Given the description of an element on the screen output the (x, y) to click on. 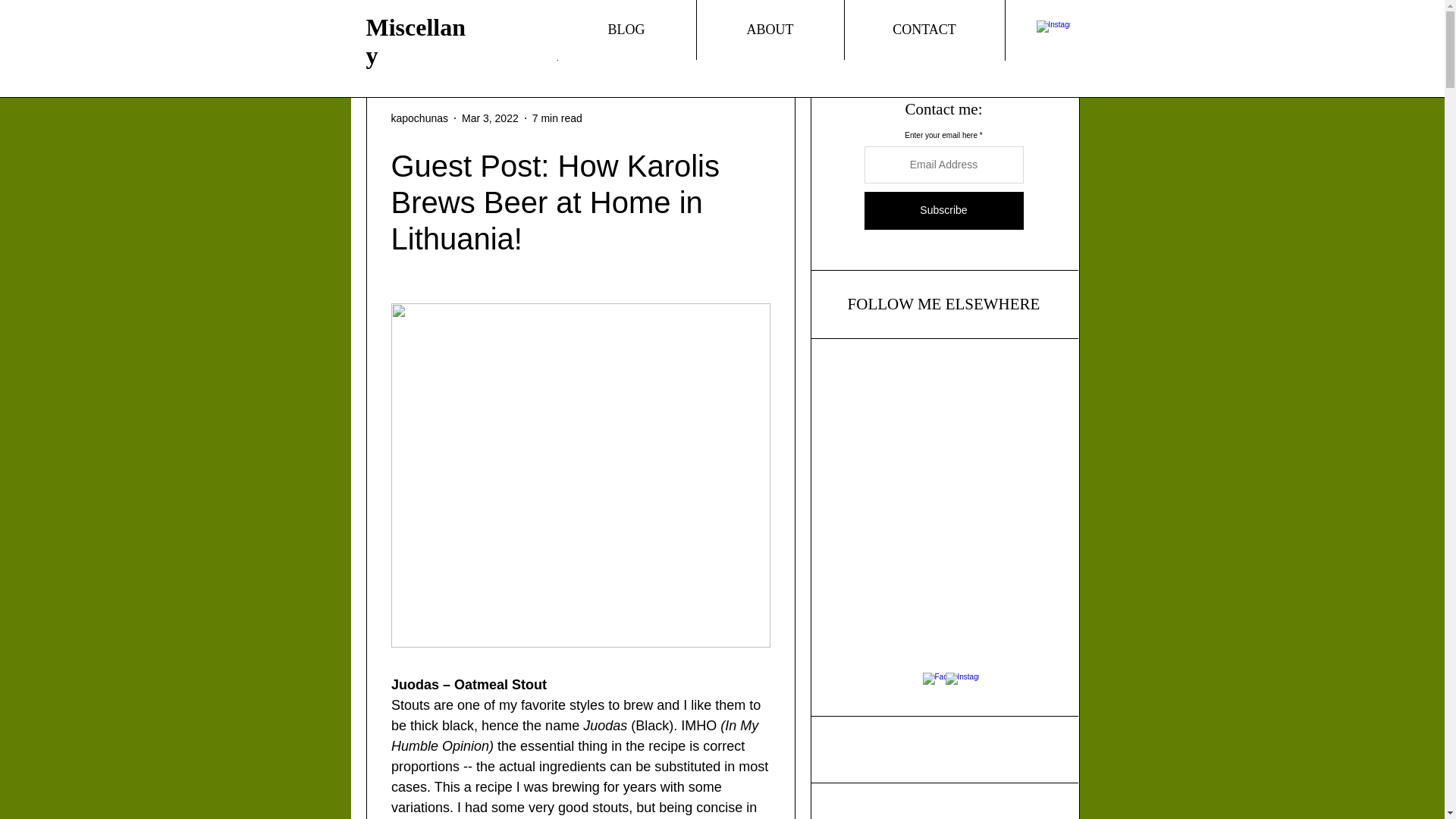
ABOUT (769, 29)
kapochunas (419, 118)
CONTACT (923, 29)
Miscellany (415, 40)
BLOG (625, 29)
Subscribe (943, 210)
Mar 3, 2022 (489, 118)
7 min read (557, 118)
